Given the description of an element on the screen output the (x, y) to click on. 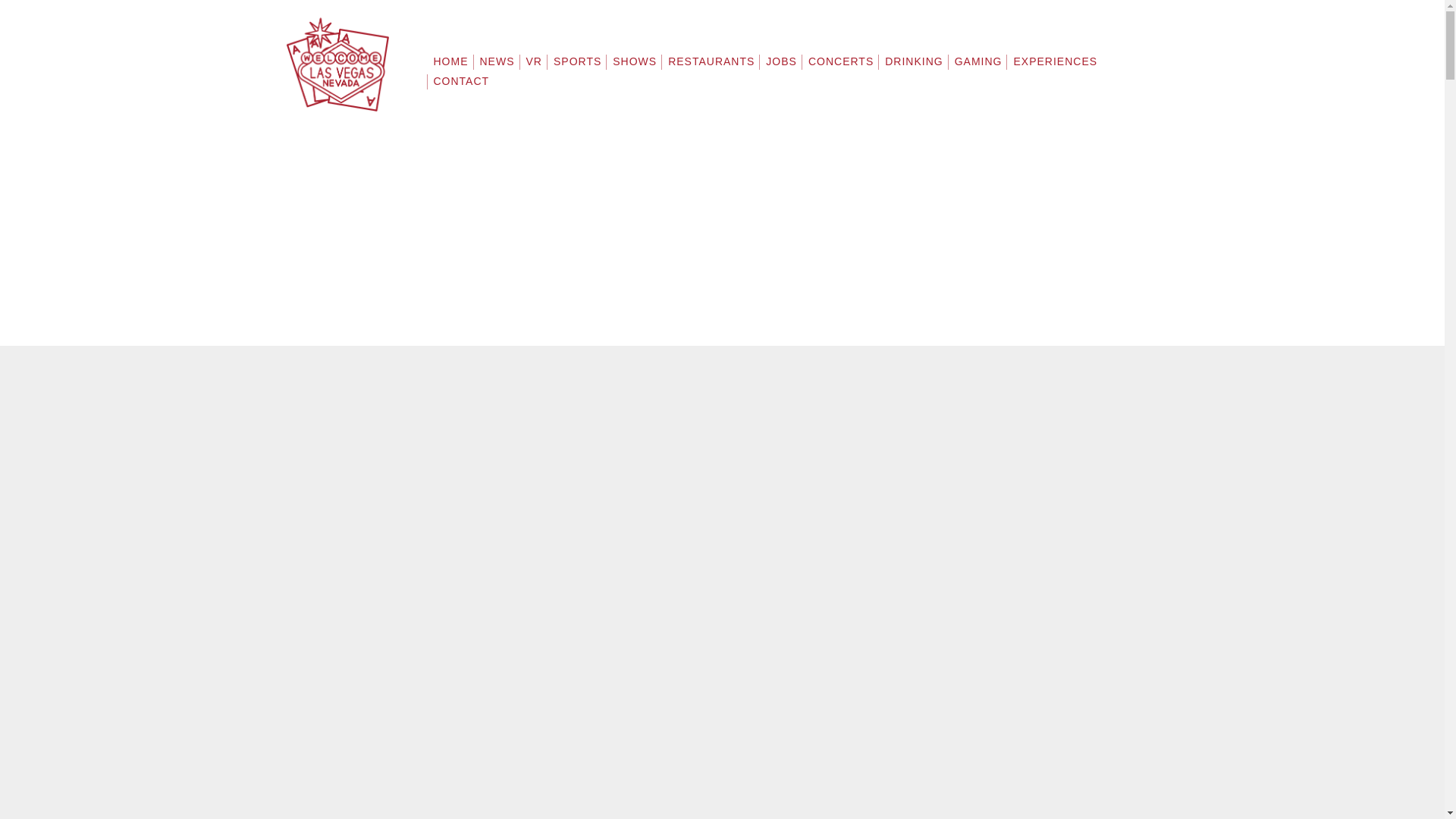
HOME (450, 66)
DRINKING (913, 66)
SPORTS (577, 66)
CONCERTS (841, 66)
RESTAURANTS (710, 66)
SHOWS (634, 66)
VR (532, 66)
JOBS (780, 66)
EXPERIENCES (1054, 66)
GAMING (978, 66)
